Given the description of an element on the screen output the (x, y) to click on. 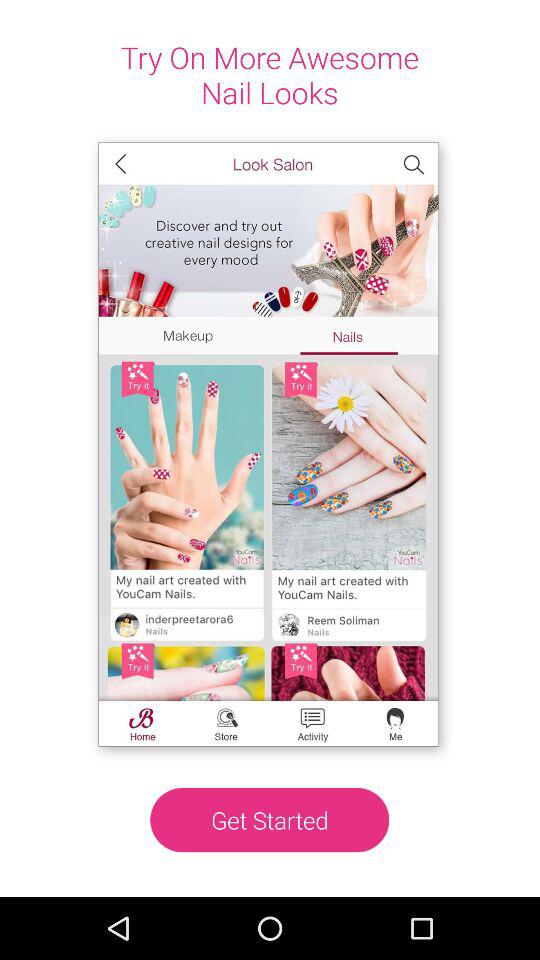
tap icon at the bottom (269, 819)
